Given the description of an element on the screen output the (x, y) to click on. 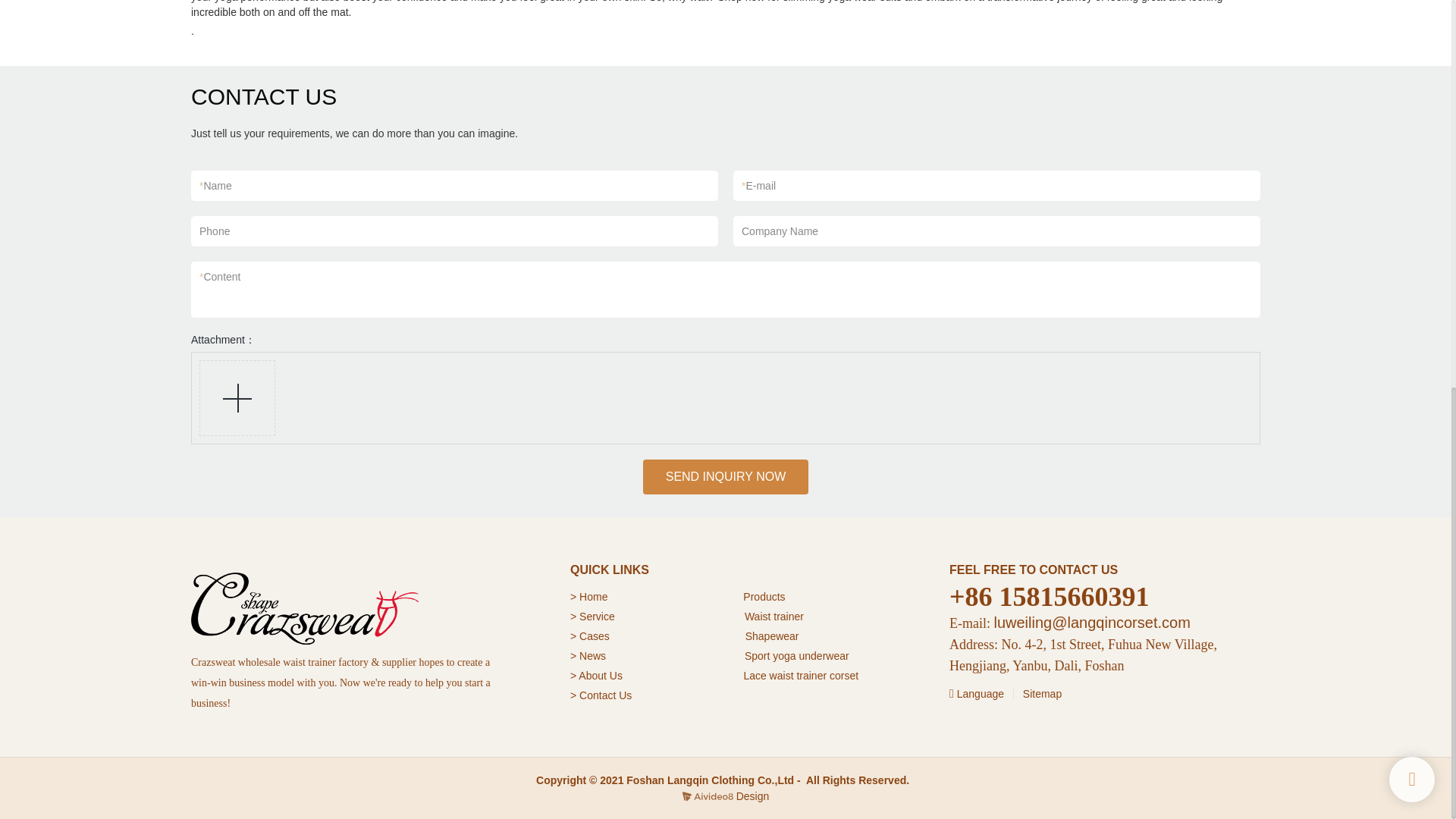
Waist trainer (773, 616)
P (745, 596)
roducts (768, 596)
Shapewear (772, 635)
Home  (594, 596)
SEND INQUIRY NOW (726, 476)
